Given the description of an element on the screen output the (x, y) to click on. 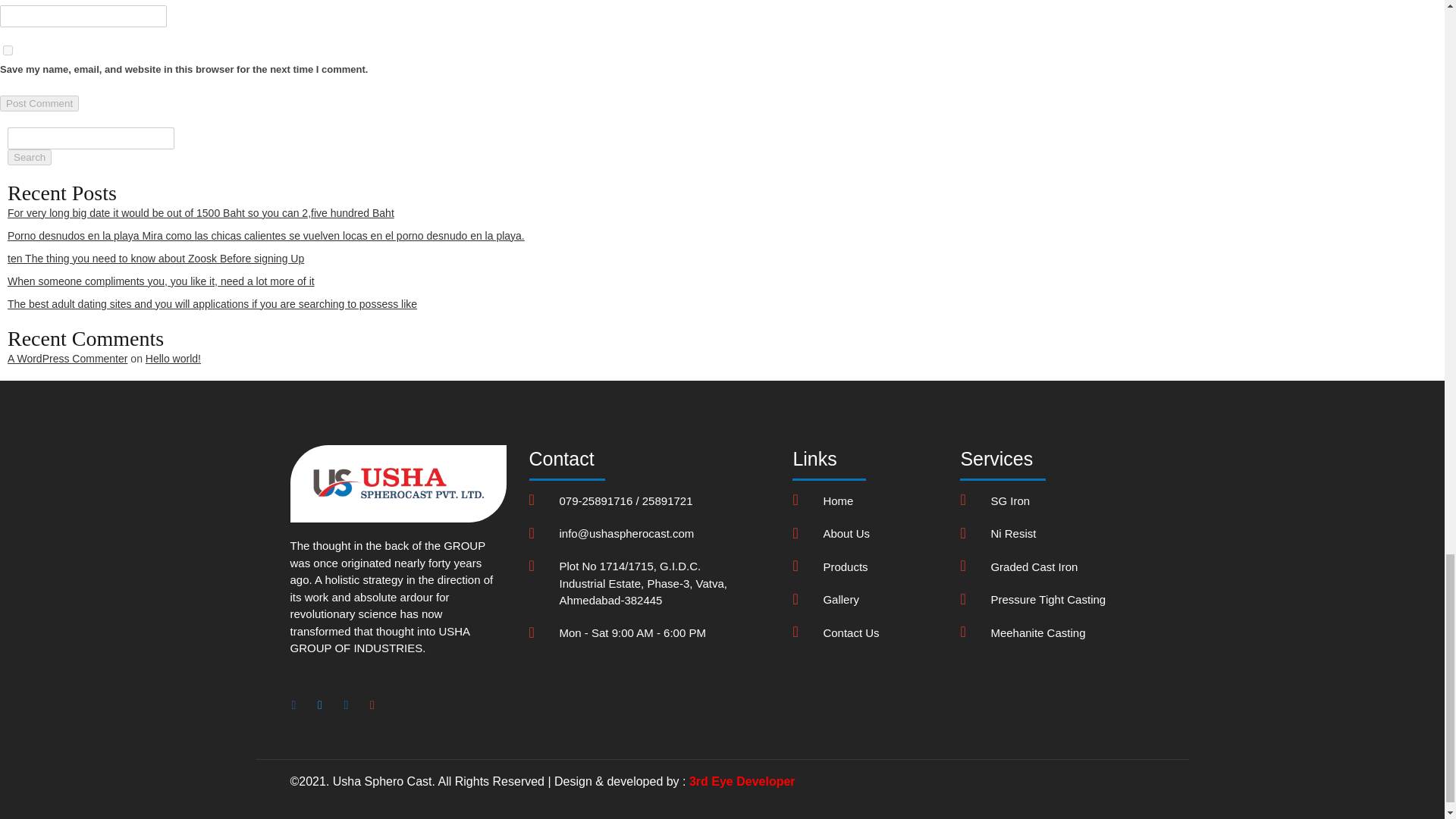
Search (28, 157)
Post Comment (39, 103)
yes (7, 50)
